Given the description of an element on the screen output the (x, y) to click on. 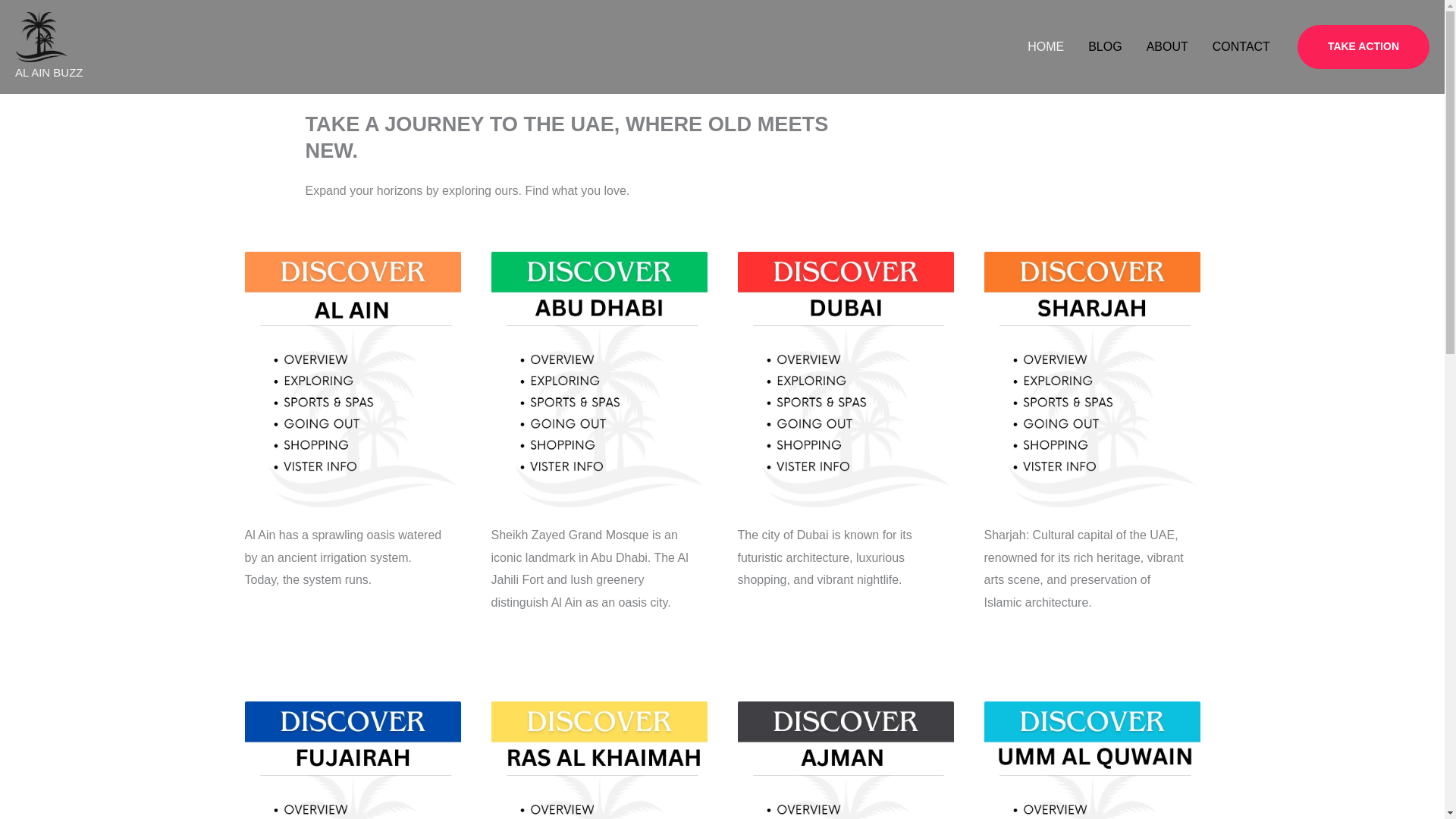
CONTACT (1240, 46)
HOME (1044, 46)
TAKE ACTION (1363, 46)
ABOUT (1166, 46)
